Given the description of an element on the screen output the (x, y) to click on. 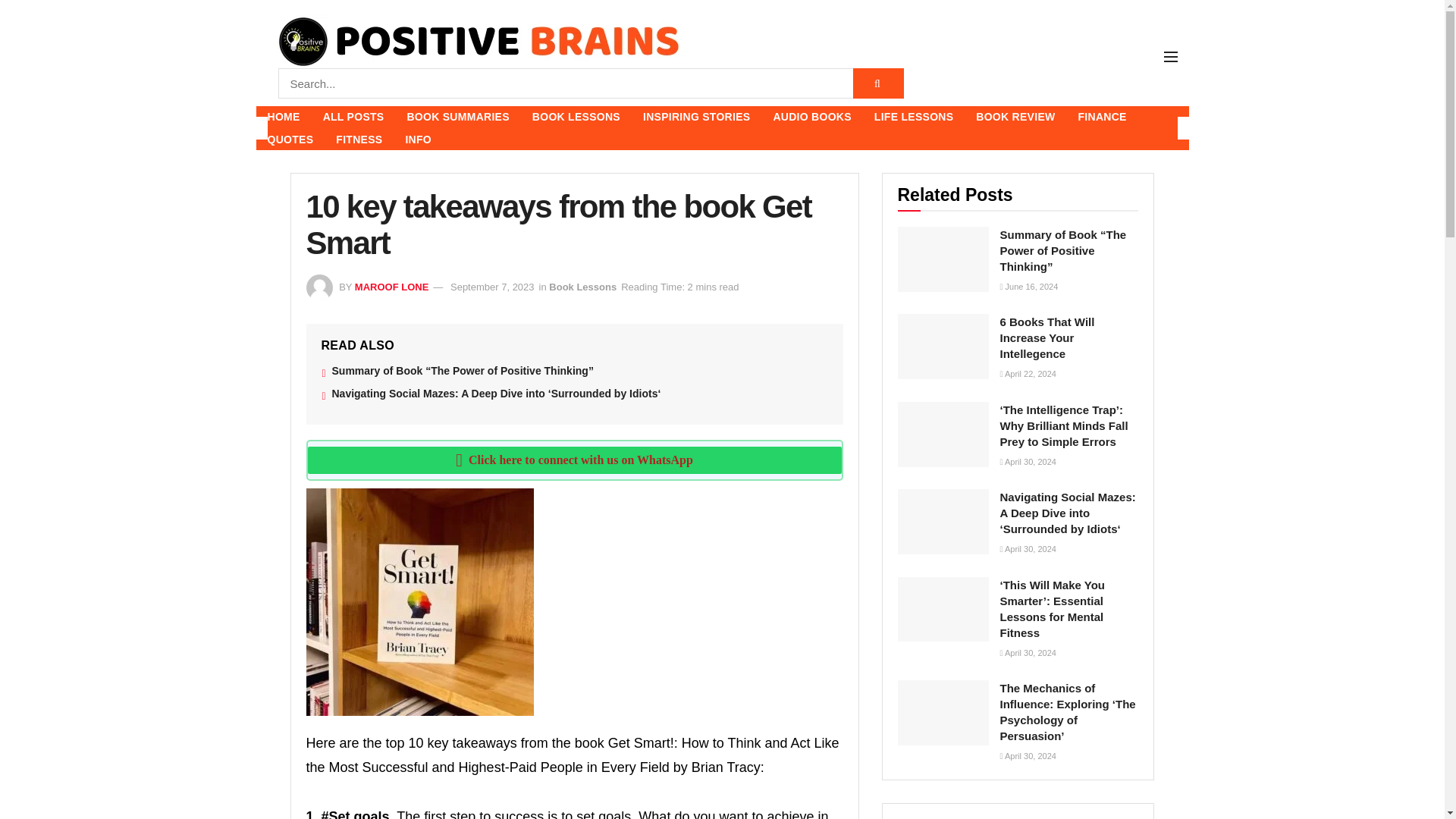
Book Lessons (581, 286)
BOOK LESSONS (576, 116)
LIFE LESSONS (914, 116)
QUOTES (289, 138)
INSPIRING STORIES (696, 116)
BOOK SUMMARIES (457, 116)
MAROOF LONE (392, 286)
September 7, 2023 (491, 286)
INFO (417, 138)
Click here to connect with us on WhatsApp (574, 460)
